Given the description of an element on the screen output the (x, y) to click on. 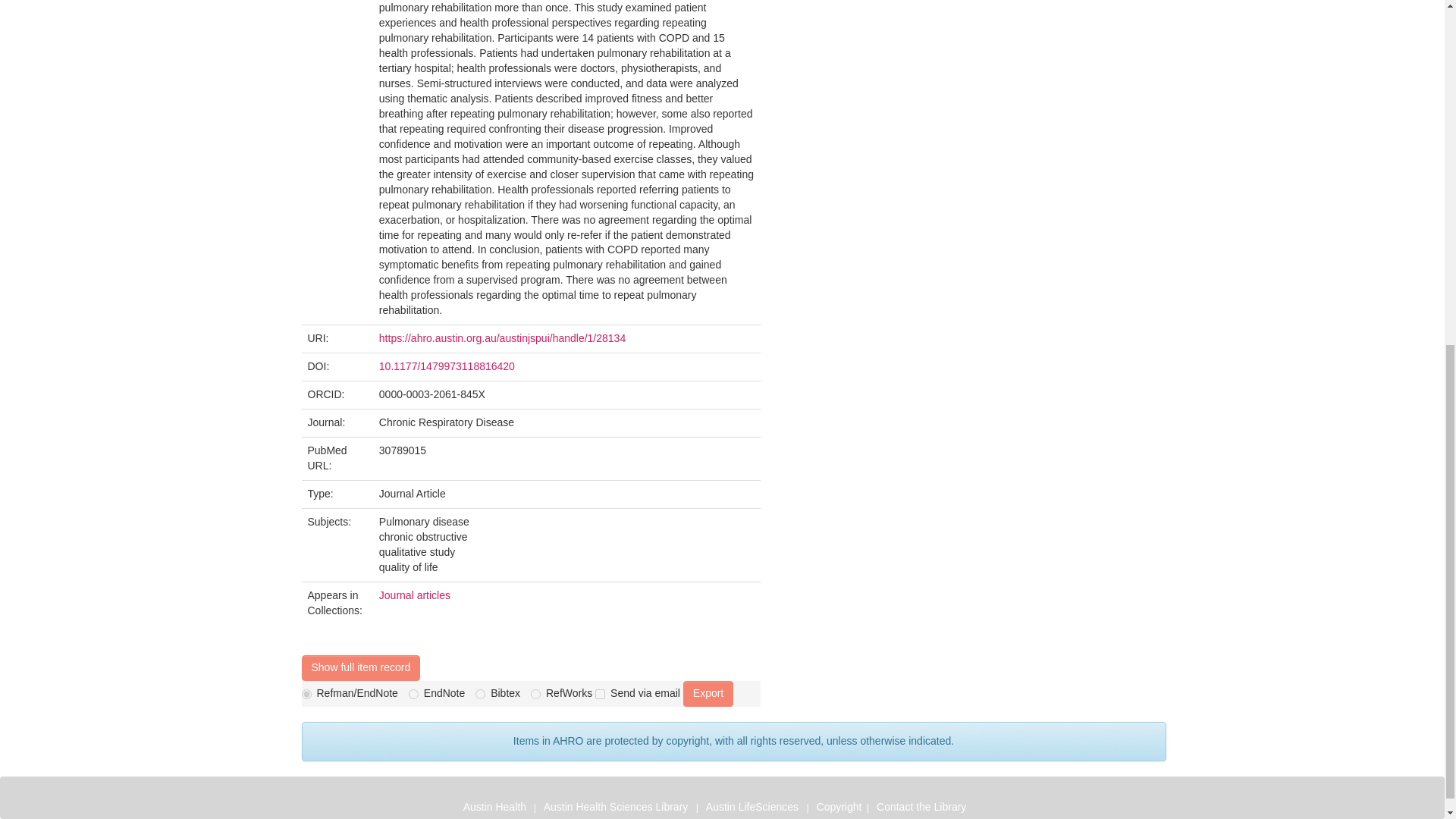
refman (306, 694)
endnote (414, 694)
refworks (535, 694)
true (600, 694)
Journal articles (413, 594)
Export (707, 693)
Austin LifeSciences (754, 806)
Show full item record (360, 667)
Austin Health Sciences Library (617, 806)
bibtex (480, 694)
Austin Health (494, 806)
Export (707, 693)
